Given the description of an element on the screen output the (x, y) to click on. 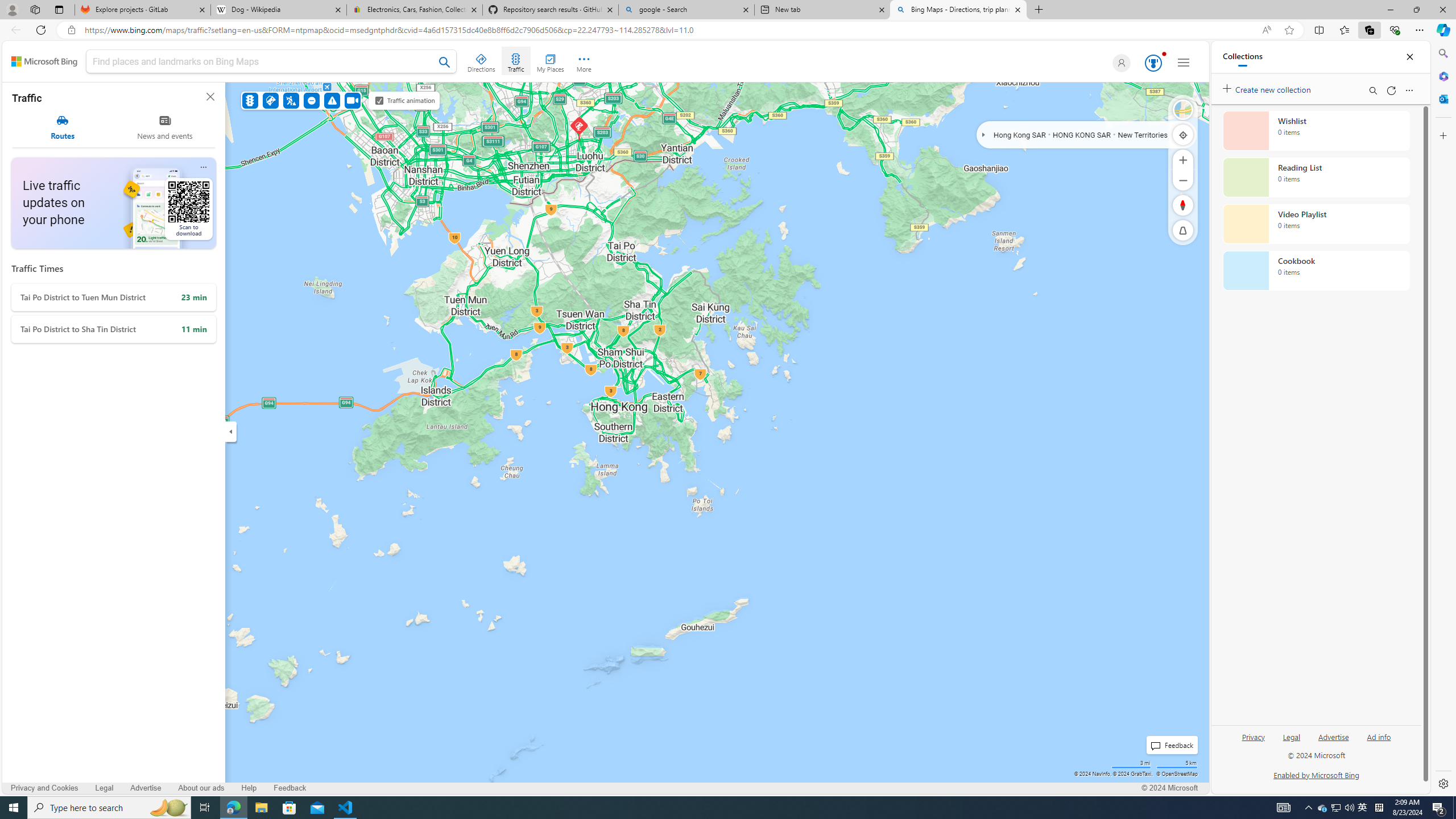
Traffic (514, 60)
